Given the description of an element on the screen output the (x, y) to click on. 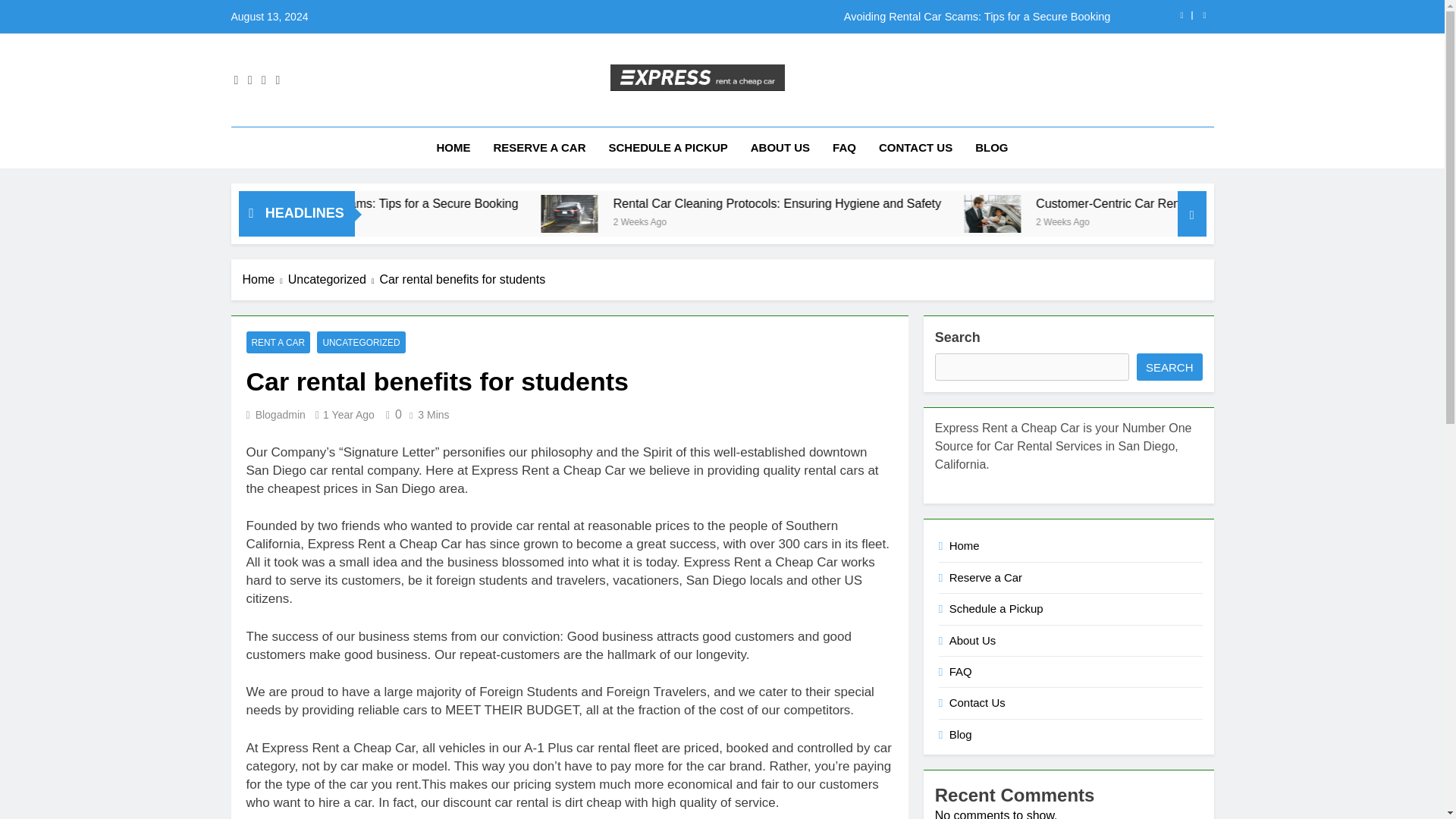
Avoiding Rental Car Scams: Tips for a Secure Booking (513, 203)
2 Weeks Ago (811, 220)
FAQ (844, 147)
SCHEDULE A PICKUP (667, 147)
RESERVE A CAR (538, 147)
BLOG (991, 147)
Avoiding Rental Car Scams: Tips for a Secure Booking (548, 203)
CONTACT US (915, 147)
ABOUT US (780, 147)
Avoiding Rental Car Scams: Tips for a Secure Booking (817, 16)
